Given the description of an element on the screen output the (x, y) to click on. 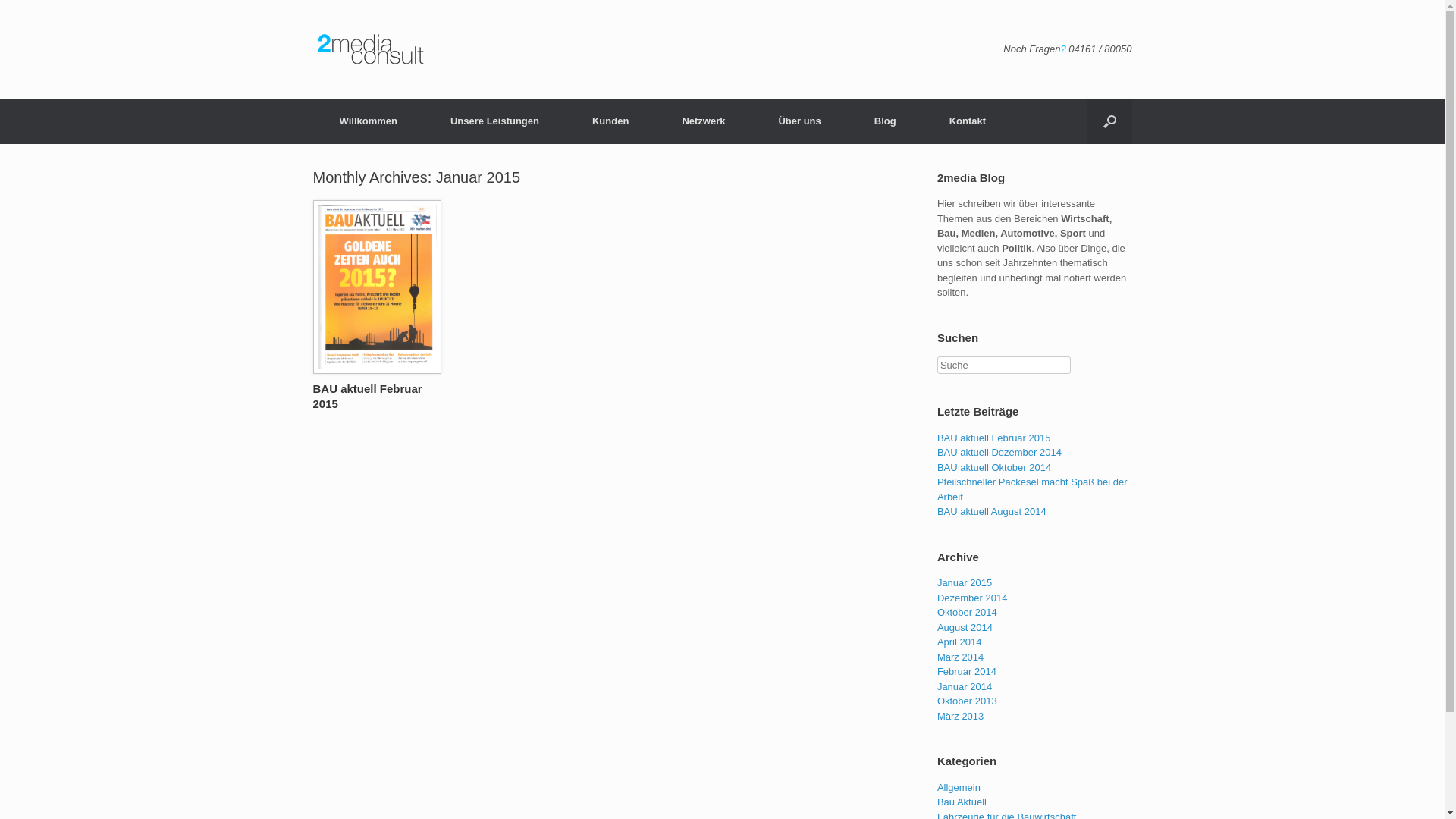
Allgemein Element type: text (958, 786)
Januar 2014 Element type: text (964, 686)
Oktober 2013 Element type: text (967, 700)
Bau Aktuell Element type: text (961, 801)
August 2014 Element type: text (964, 627)
Kunden Element type: text (610, 121)
BAU aktuell Oktober 2014 Element type: text (994, 466)
Dezember 2014 Element type: text (972, 596)
Blog Element type: text (884, 121)
Suche Element type: text (29, 14)
Netzwerk Element type: text (703, 121)
Unsere Leistungen Element type: text (494, 121)
BAU aktuell Februar 2015 Element type: text (366, 396)
April 2014 Element type: text (959, 641)
BAU aktuell August 2014 Element type: text (991, 511)
Januar 2015 Element type: text (964, 582)
BAU aktuell Februar 2015 Element type: text (994, 437)
BAU aktuell Dezember 2014 Element type: text (999, 452)
Februar 2014 Element type: text (966, 671)
Oktober 2014 Element type: text (967, 612)
Willkommen Element type: text (367, 121)
2media consult Element type: hover (380, 49)
Kontakt Element type: text (967, 121)
